Given the description of an element on the screen output the (x, y) to click on. 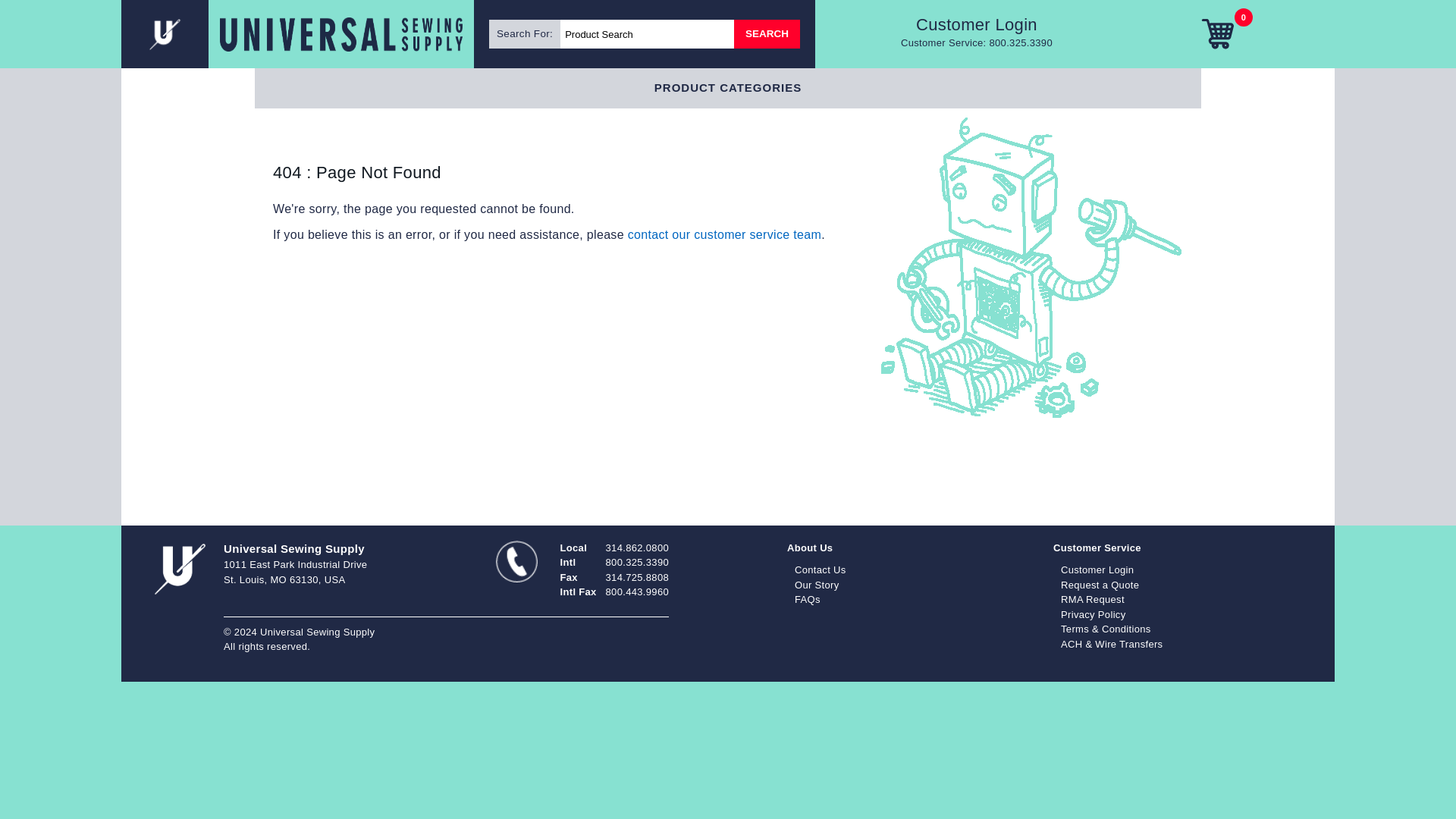
0 (1217, 33)
Customer Login (297, 33)
SEARCH (975, 24)
800.325.3390 (766, 33)
